Given the description of an element on the screen output the (x, y) to click on. 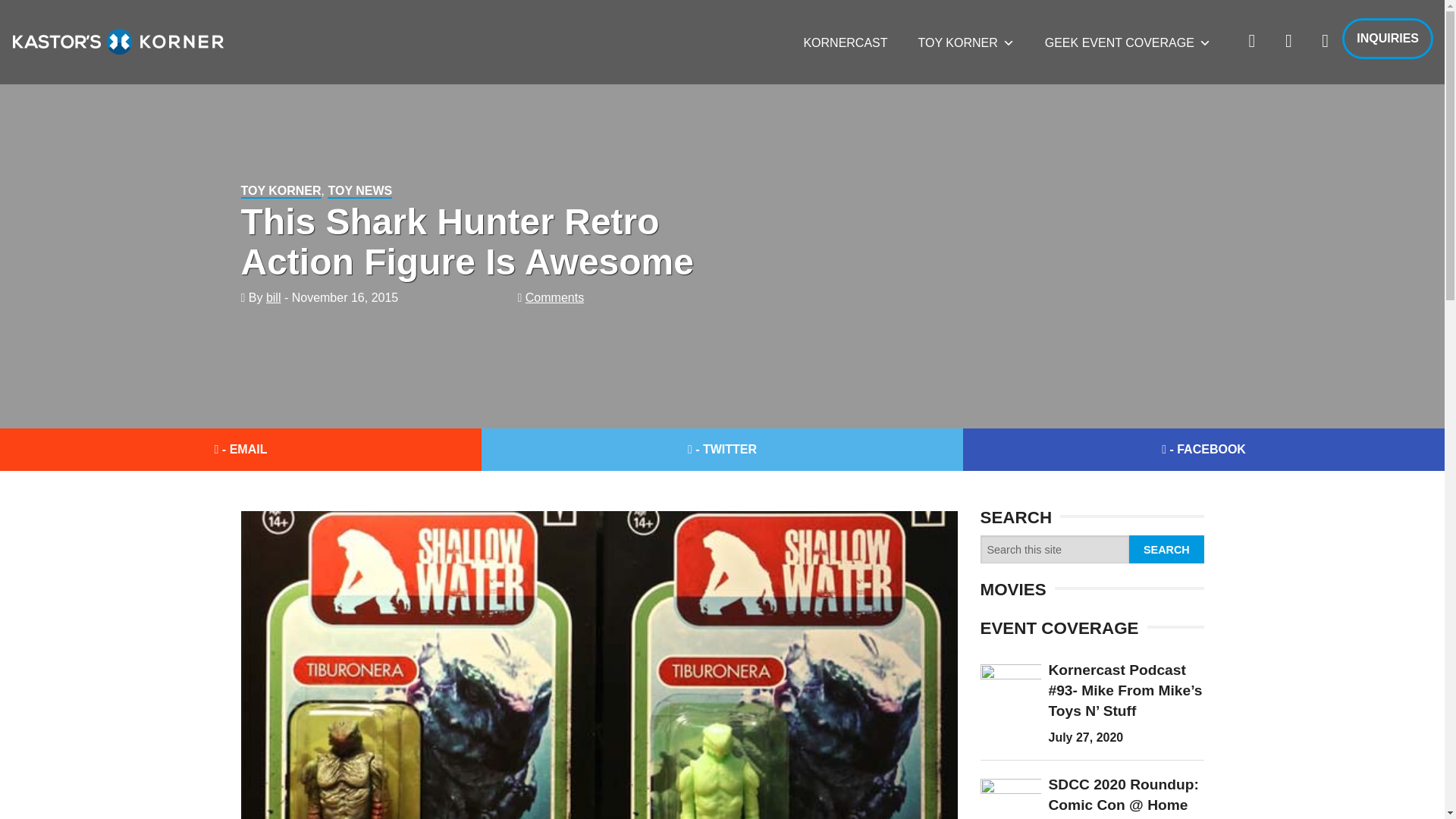
- EMAIL (240, 449)
Search (1166, 549)
GEEK EVENT COVERAGE (1127, 42)
KORNERCAST (844, 42)
- TWITTER (721, 449)
bill (273, 297)
TOY KORNER (965, 42)
Kastors Korner (117, 41)
TOY NEWS (359, 191)
Comments (554, 297)
